Given the description of an element on the screen output the (x, y) to click on. 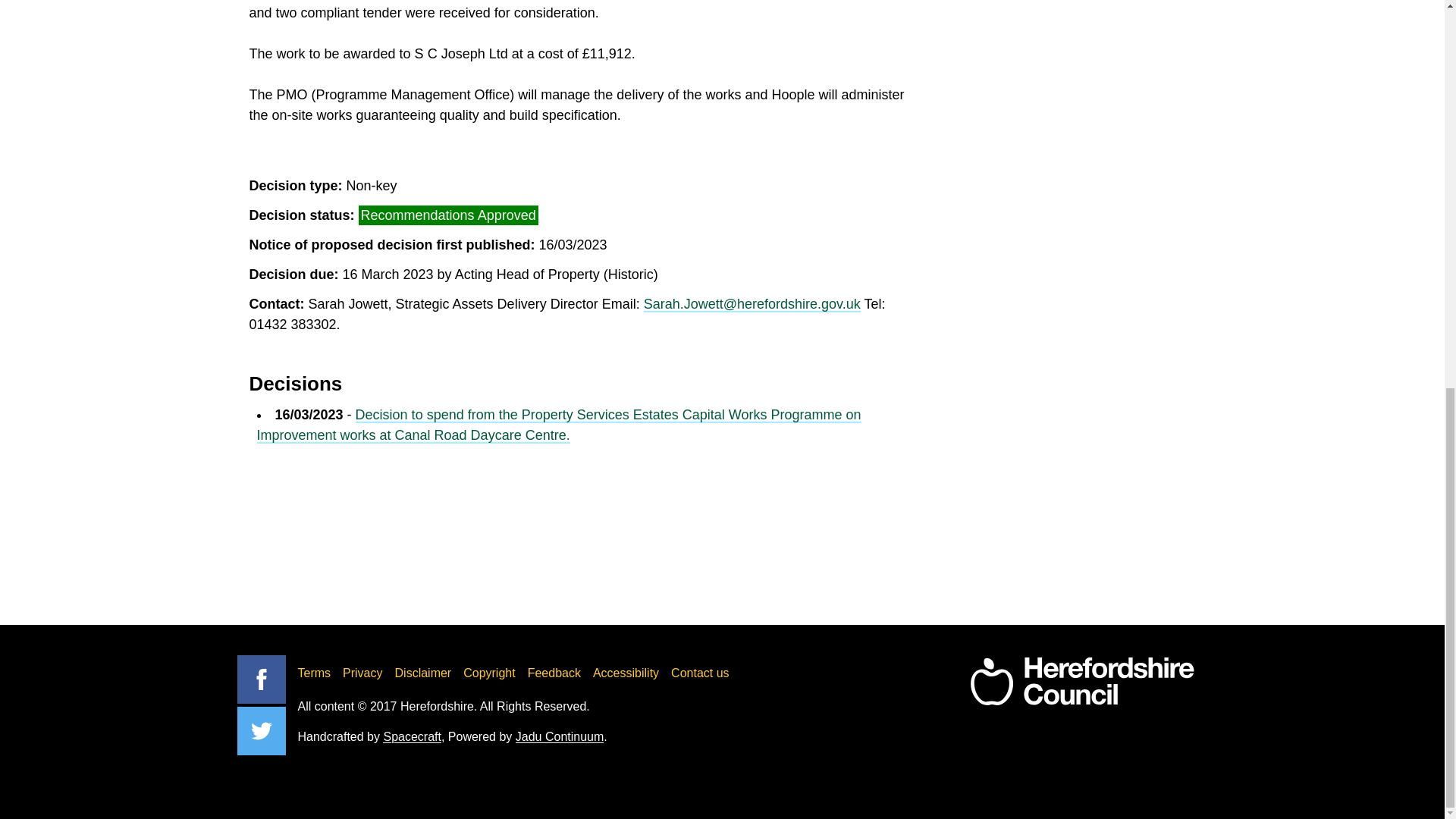
Follow us on Twitter (260, 730)
Link to decision details (558, 425)
Find us on Facebook (260, 679)
